Given the description of an element on the screen output the (x, y) to click on. 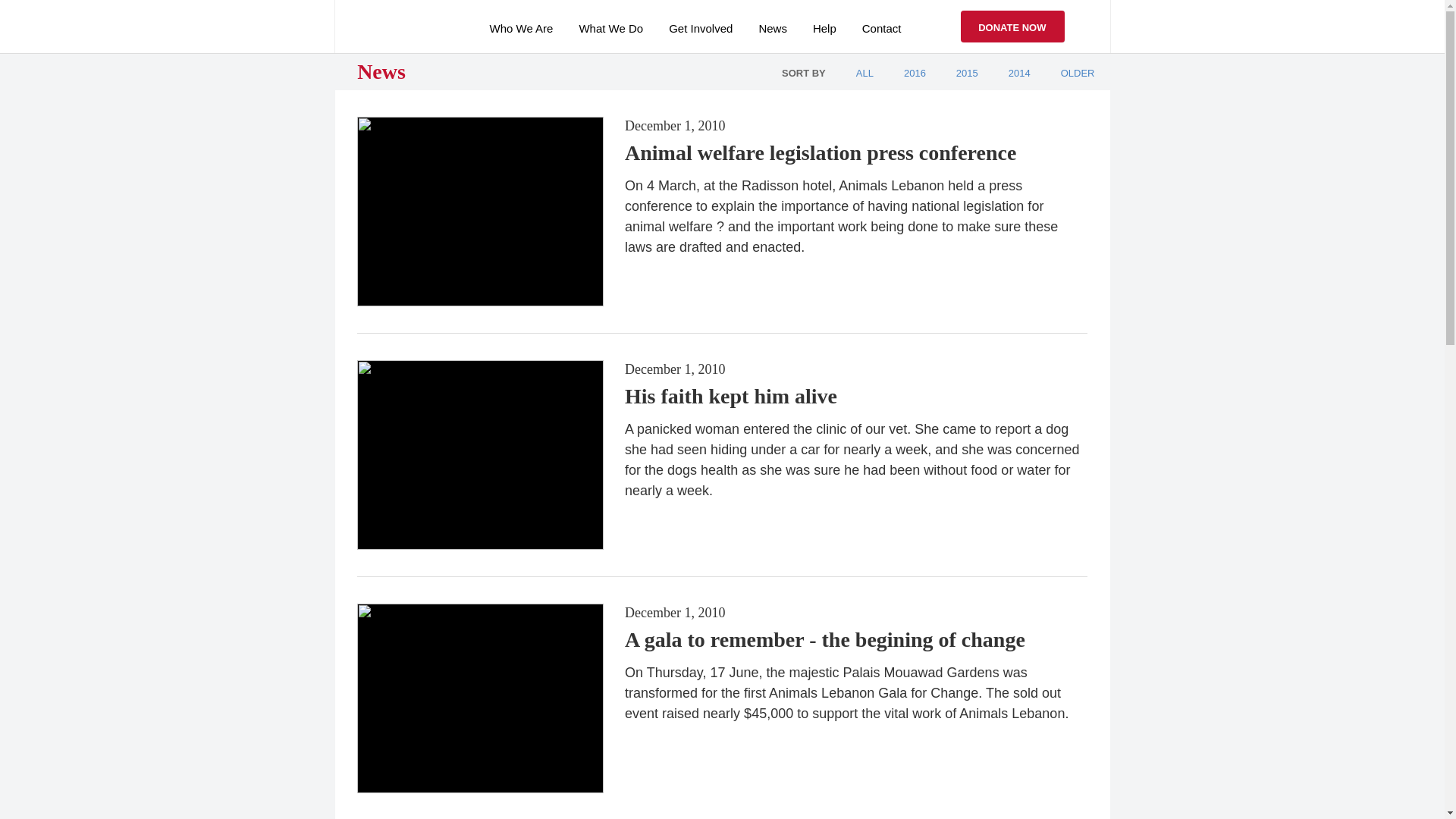
2016 (915, 72)
Animal welfare legislation press conference (820, 152)
Contact (881, 27)
ALL (864, 72)
OLDER (1077, 72)
His faith kept him alive (730, 395)
2014 (1019, 72)
2015 (967, 72)
Help (823, 27)
A gala to remember - the begining of change (824, 639)
